Given the description of an element on the screen output the (x, y) to click on. 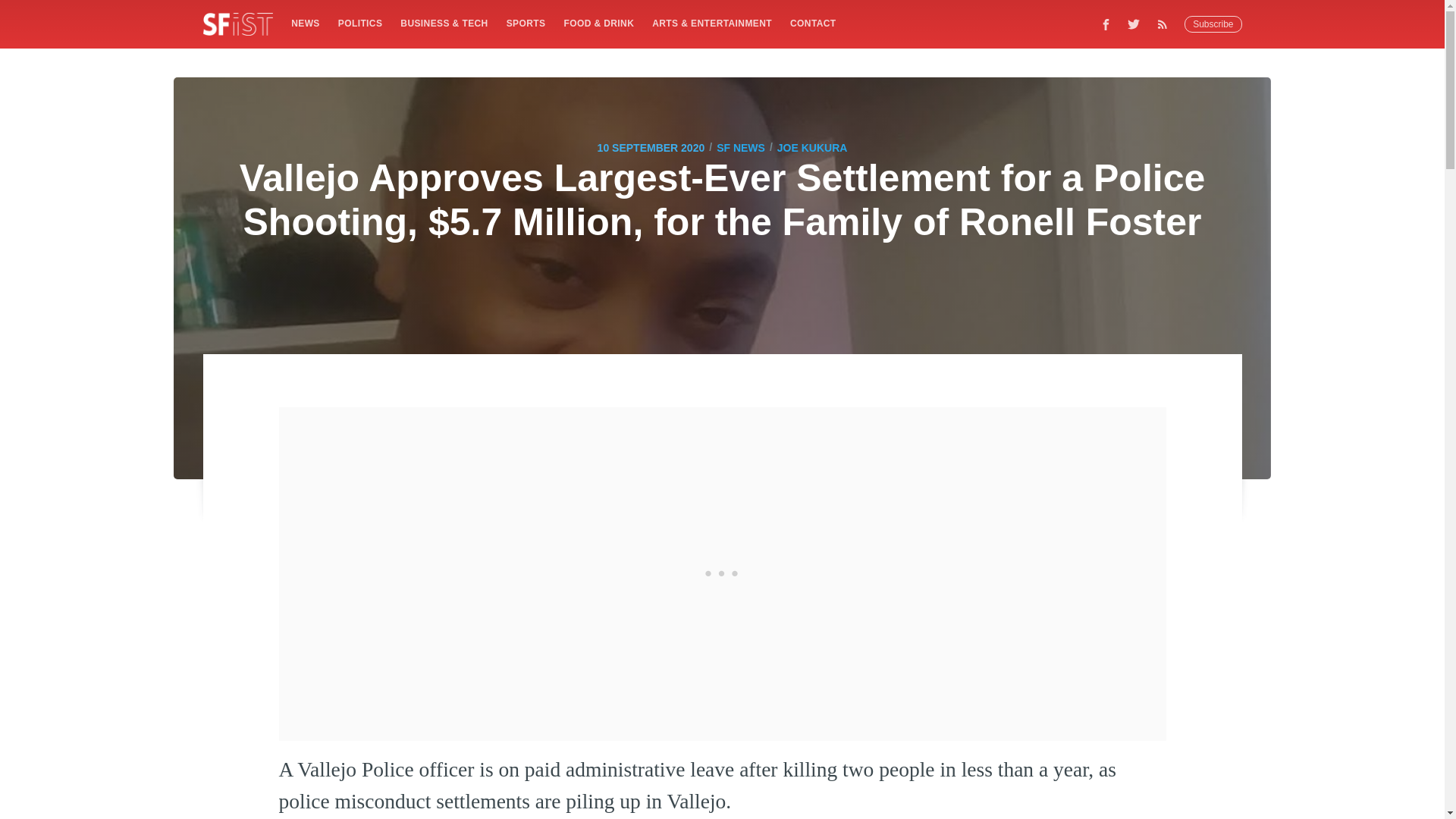
SPORTS (525, 23)
RSS (1166, 23)
SF NEWS (740, 147)
POLITICS (360, 23)
Facebook (1106, 23)
Twitter (1133, 23)
NEWS (305, 23)
CONTACT (812, 23)
Subscribe (1213, 23)
JOE KUKURA (812, 147)
